Given the description of an element on the screen output the (x, y) to click on. 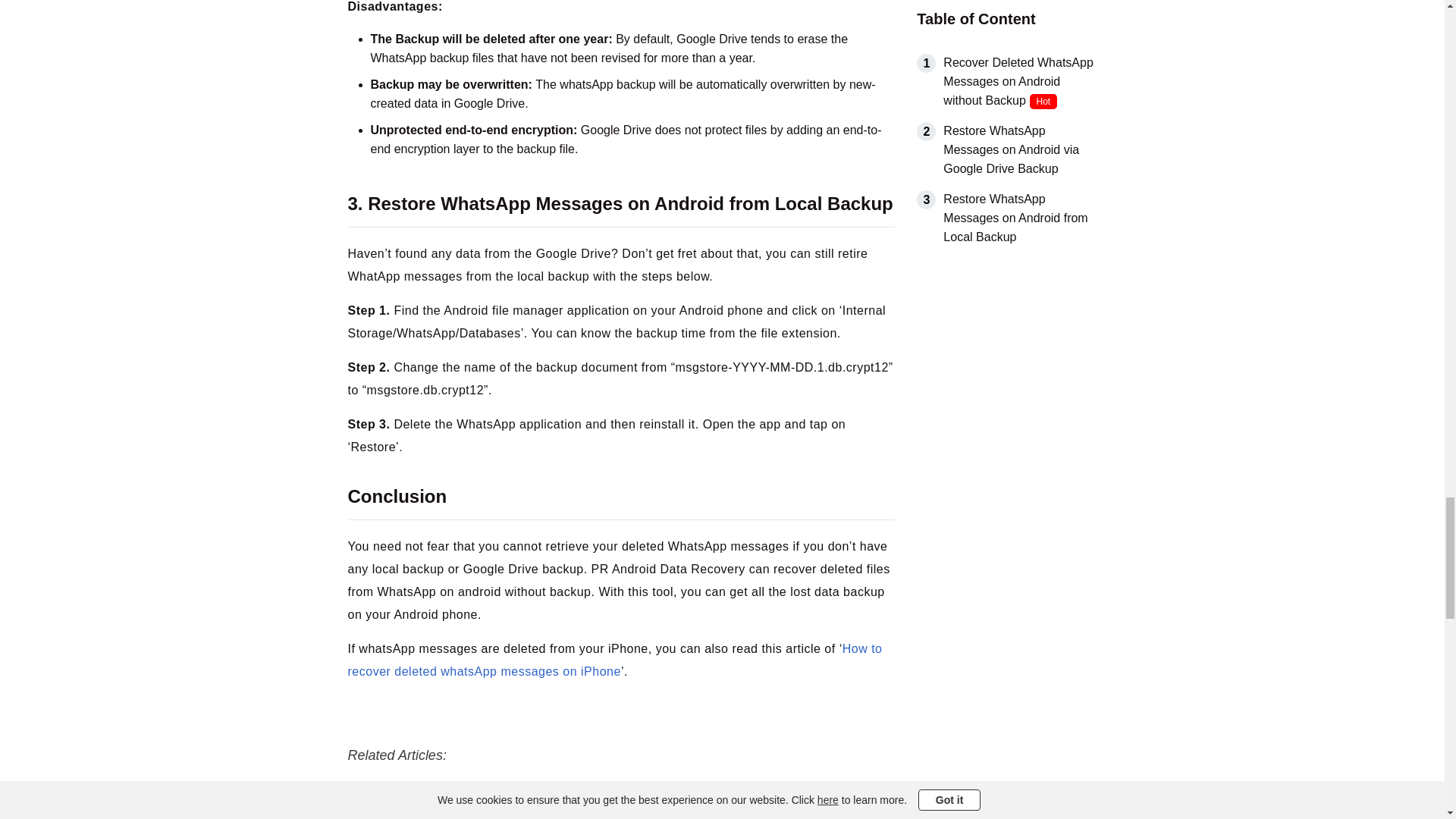
How to recover deleted whatsApp messages on iPhone (614, 660)
